Given the description of an element on the screen output the (x, y) to click on. 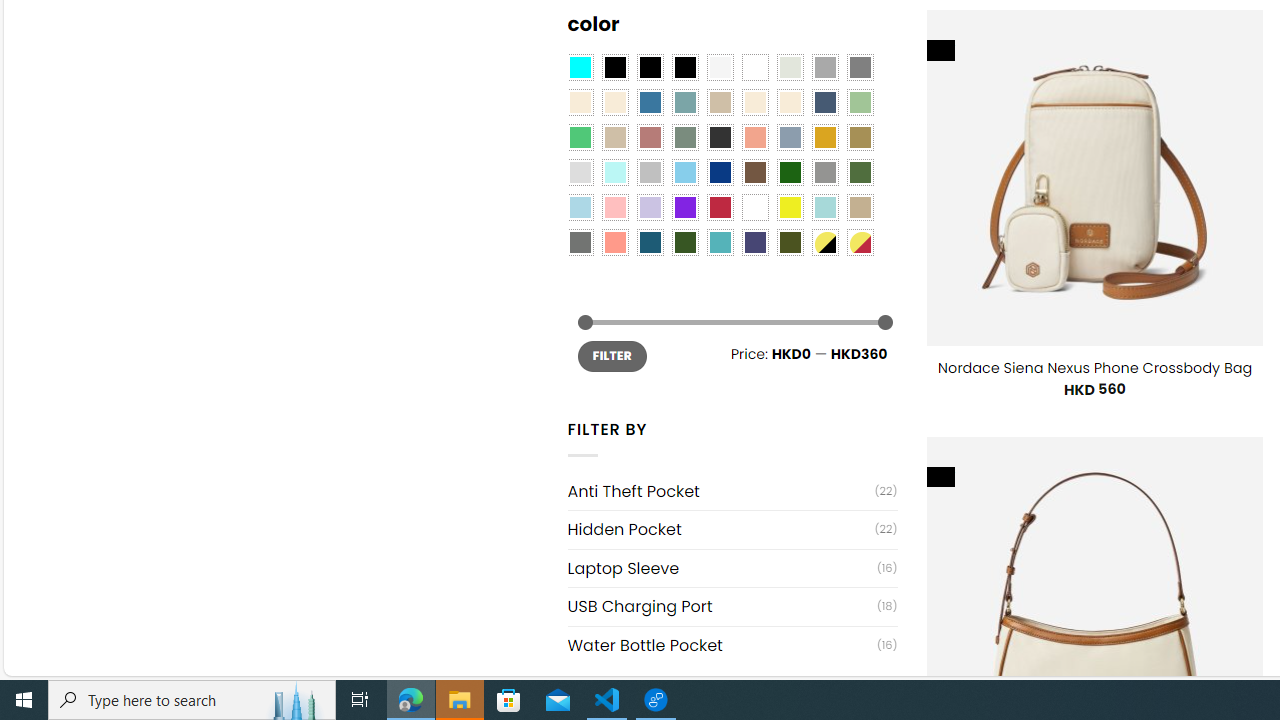
All Gray (859, 67)
Brown (755, 172)
Blue Sage (684, 102)
Pink (614, 208)
Light Gray (579, 172)
Army Green (789, 242)
Blue (650, 102)
Yellow (789, 208)
Peach Pink (614, 242)
Rose (650, 138)
Silver (650, 172)
Coral (755, 138)
All Black (614, 67)
Black-Brown (684, 67)
Pearly White (719, 67)
